Given the description of an element on the screen output the (x, y) to click on. 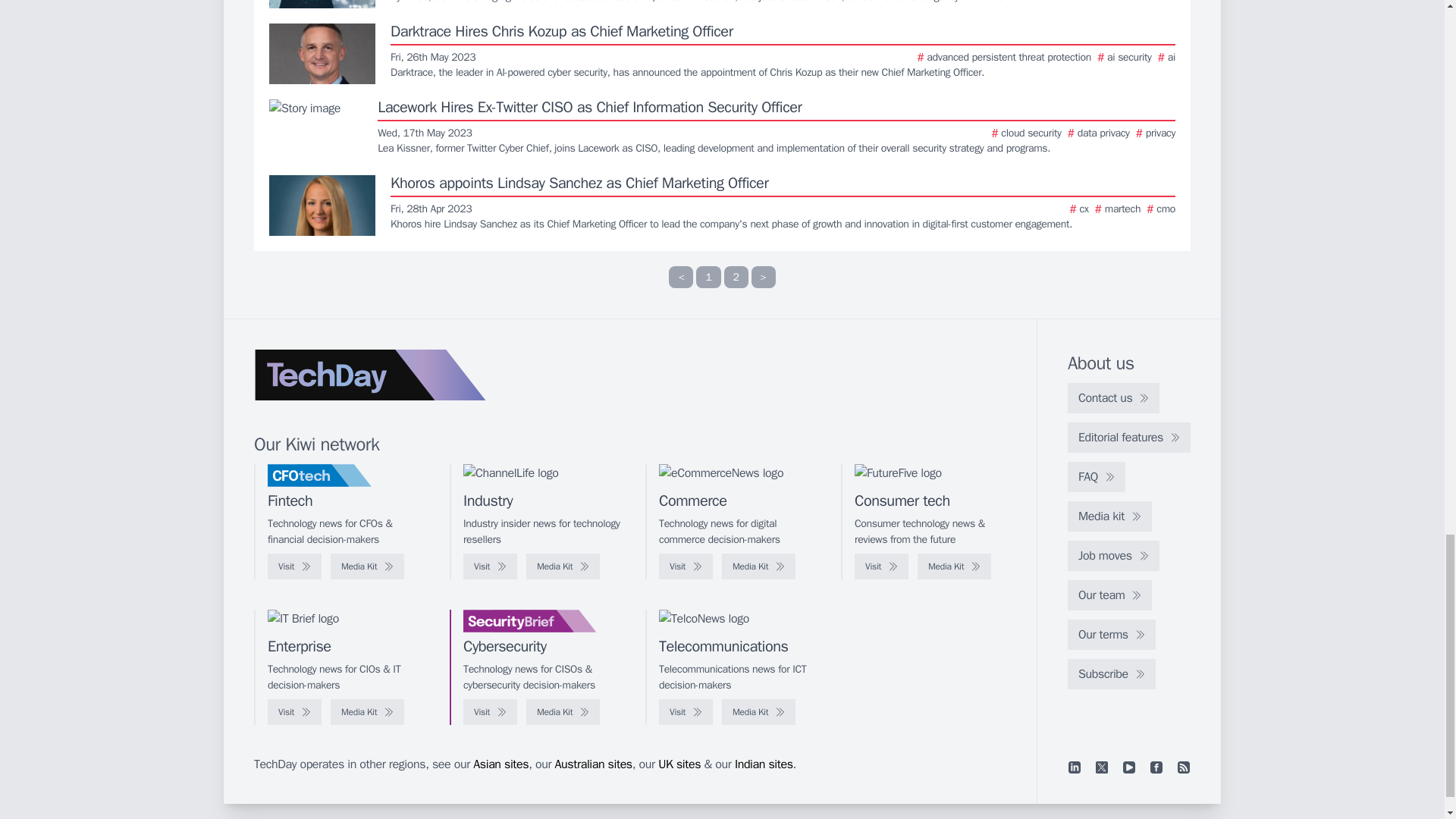
Media Kit (562, 566)
1 (707, 277)
Media Kit (367, 566)
Visit (489, 566)
Visit (294, 566)
2 (735, 277)
